Given the description of an element on the screen output the (x, y) to click on. 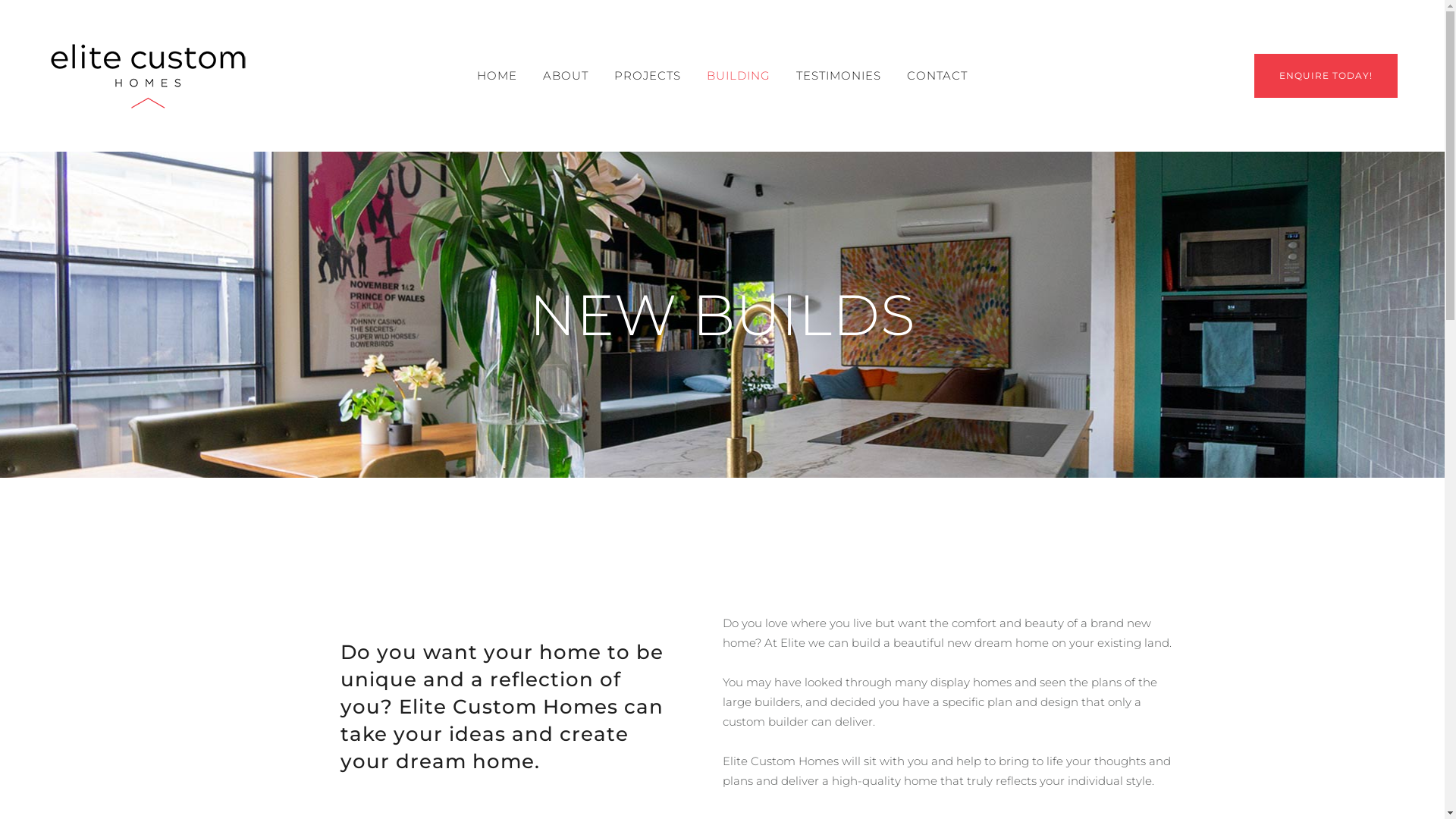
CONTACT Element type: text (937, 75)
BUILDING Element type: text (738, 75)
PROJECTS Element type: text (647, 75)
HOME Element type: text (497, 75)
ENQUIRE TODAY! Element type: text (1325, 75)
ABOUT Element type: text (565, 75)
TESTIMONIES Element type: text (838, 75)
